Given the description of an element on the screen output the (x, y) to click on. 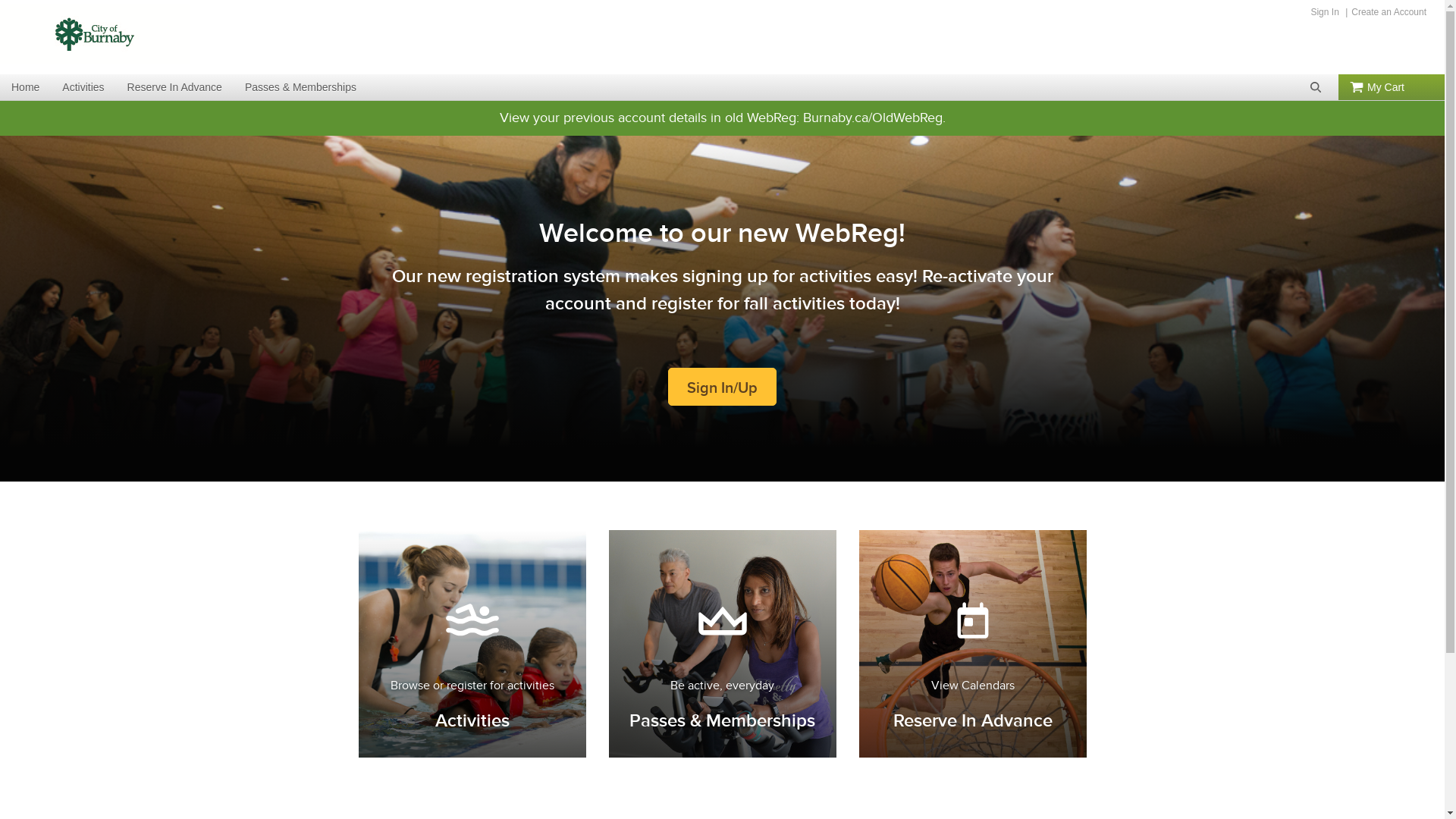
Passes & Memberships Element type: text (300, 87)
Burnaby.ca/OldWebReg Element type: text (871, 117)
Sign In/Up Element type: text (722, 386)
Browse or register for activities
Activities Element type: text (471, 643)
Create an Account Element type: text (1386, 11)
System - Public Access Banner Image Element type: hover (94, 33)
Home Element type: text (25, 87)
View Calendars
Reserve In Advance Element type: text (971, 643)
Reserve In Advance Element type: text (174, 87)
Activities Element type: text (82, 87)
Sign In Element type: text (1324, 11)
Be active, everyday
Passes & Memberships Element type: text (721, 643)
My Cart Element type: text (1391, 87)
